Given the description of an element on the screen output the (x, y) to click on. 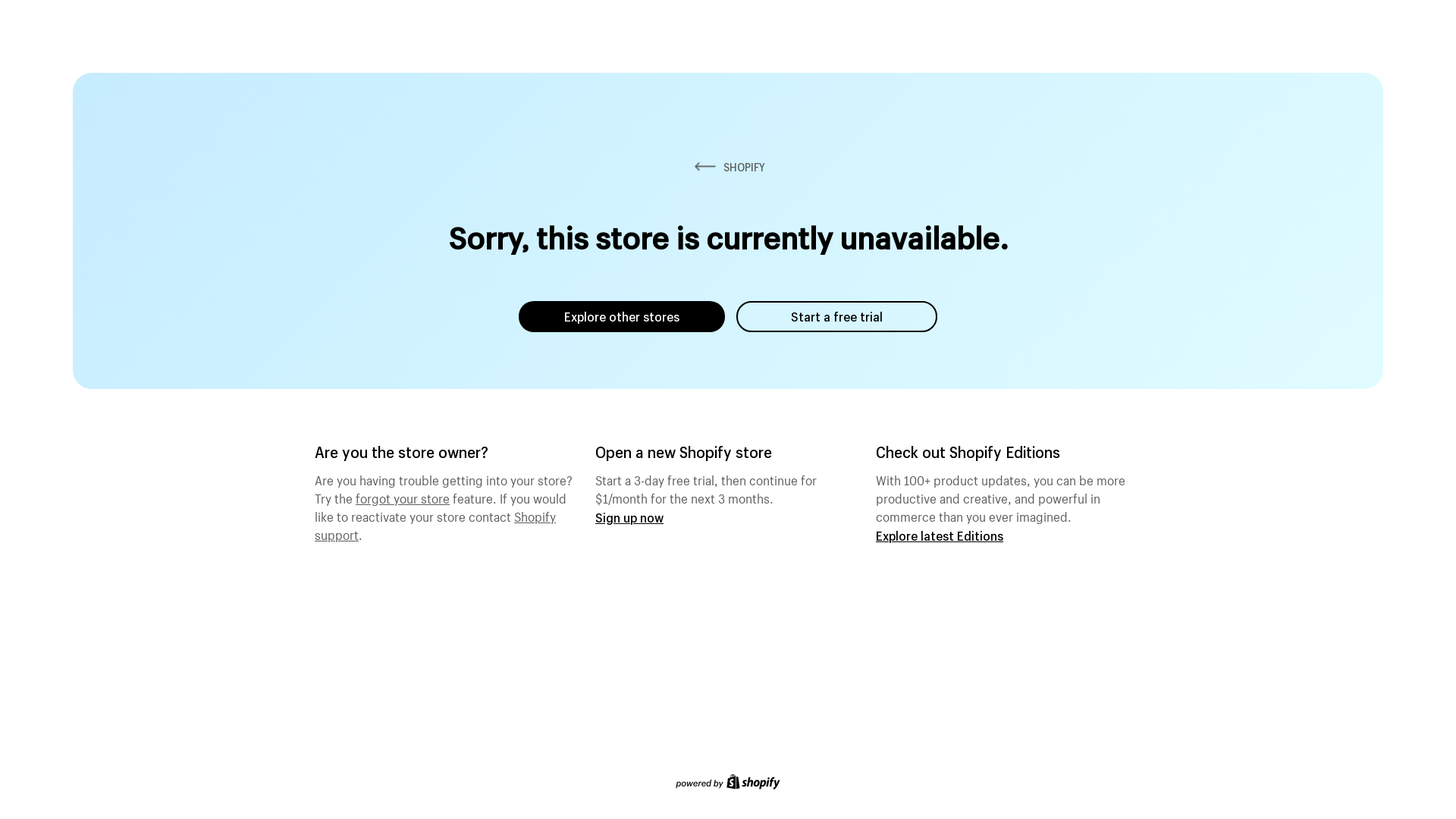
forgot your store Element type: text (402, 496)
Explore latest Editions Element type: text (939, 535)
SHOPIFY Element type: text (727, 167)
Start a free trial Element type: text (836, 316)
Explore other stores Element type: text (621, 316)
Shopify support Element type: text (434, 523)
Sign up now Element type: text (629, 517)
